Given the description of an element on the screen output the (x, y) to click on. 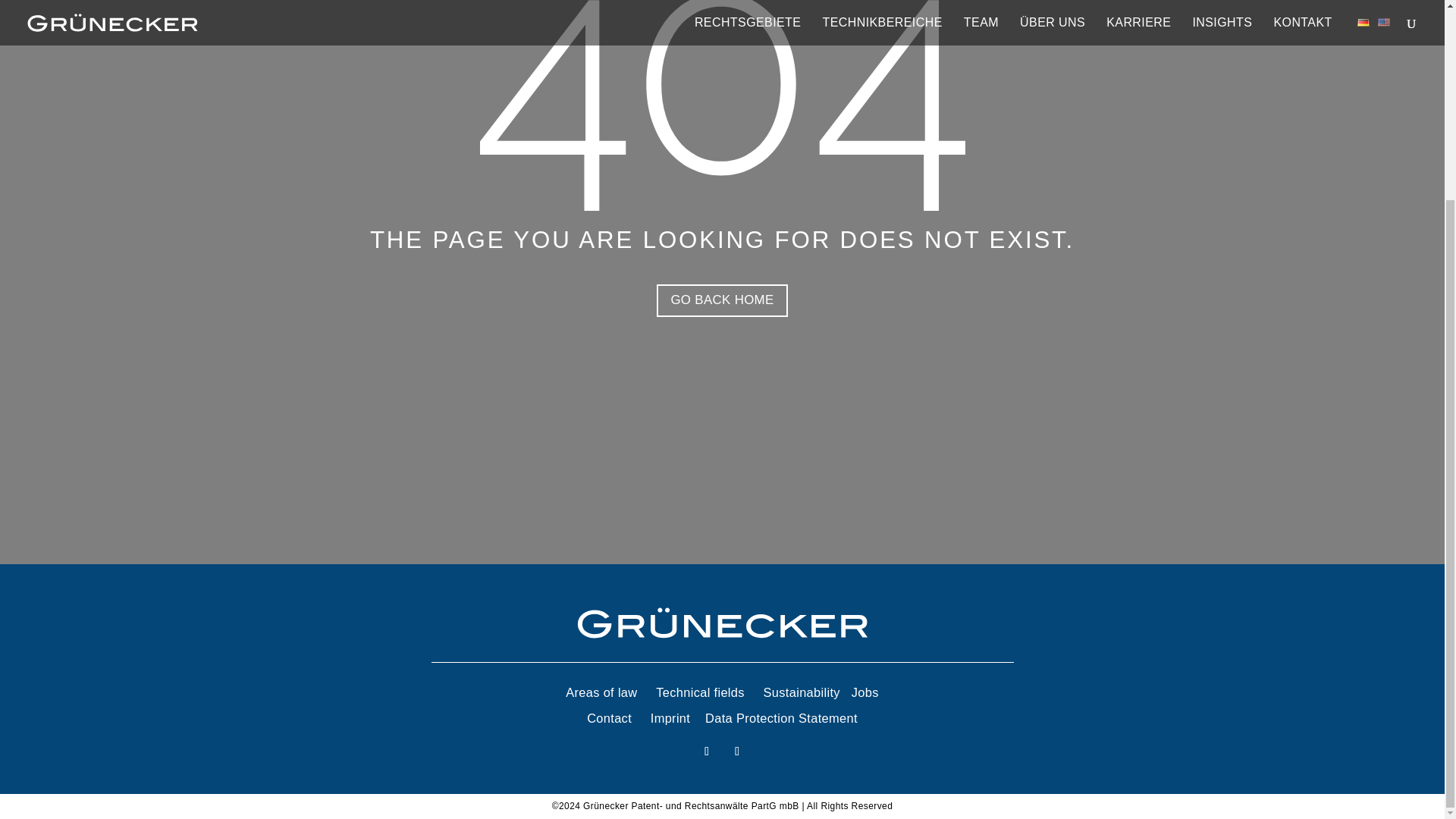
Folge auf LinkedIn (706, 751)
grunecker-404 (721, 105)
Jobs (864, 692)
gruenecker-logo-white (721, 622)
GO BACK HOME (722, 300)
Areas of law (601, 692)
Folge auf Instagram (737, 751)
Technical fields (700, 692)
Contact (608, 717)
Data Protection Statement (781, 717)
